Given the description of an element on the screen output the (x, y) to click on. 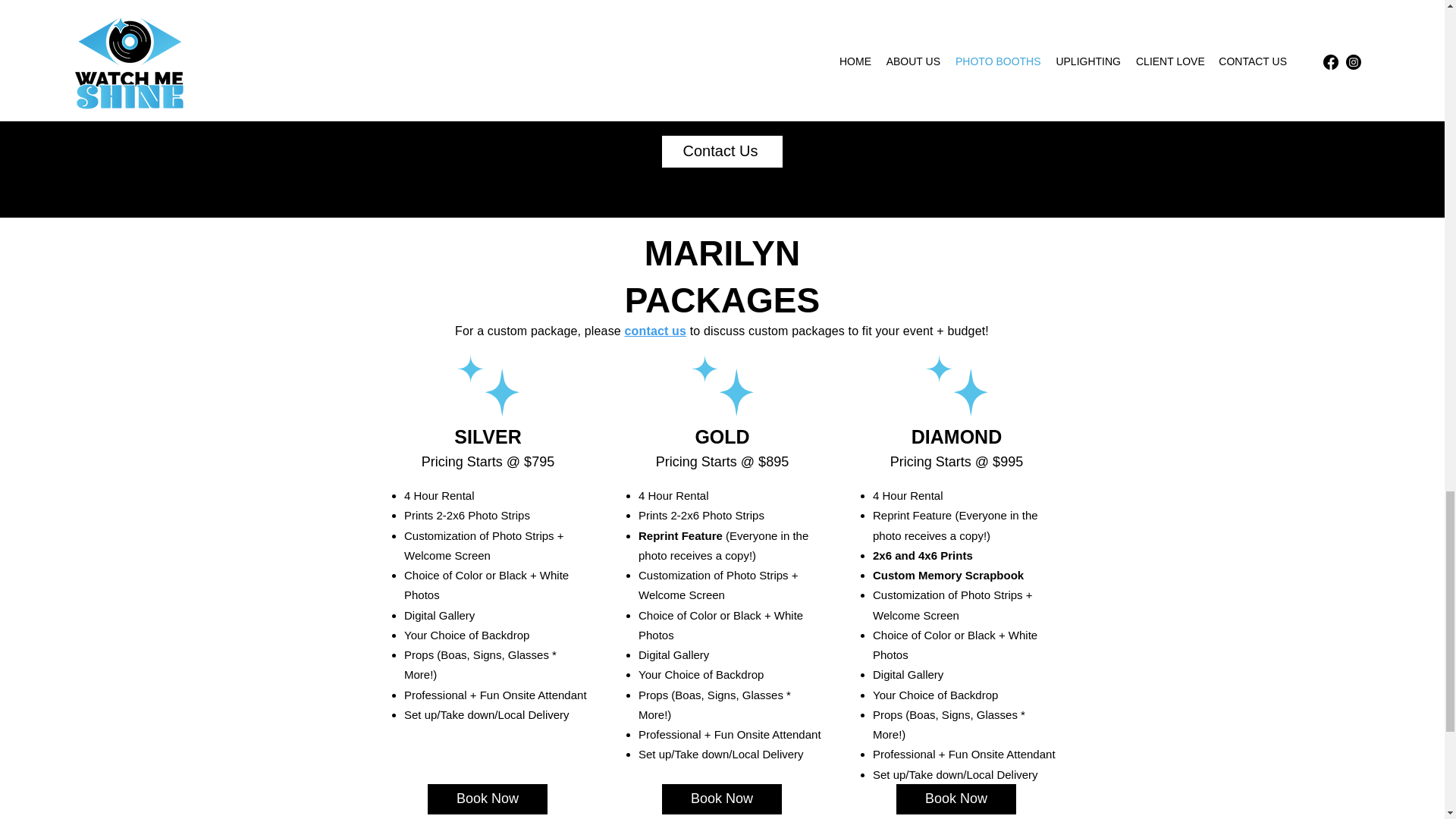
Contact Us (721, 151)
Book Now (487, 798)
Book Now (721, 798)
contact us (655, 330)
Book Now (956, 798)
